Given the description of an element on the screen output the (x, y) to click on. 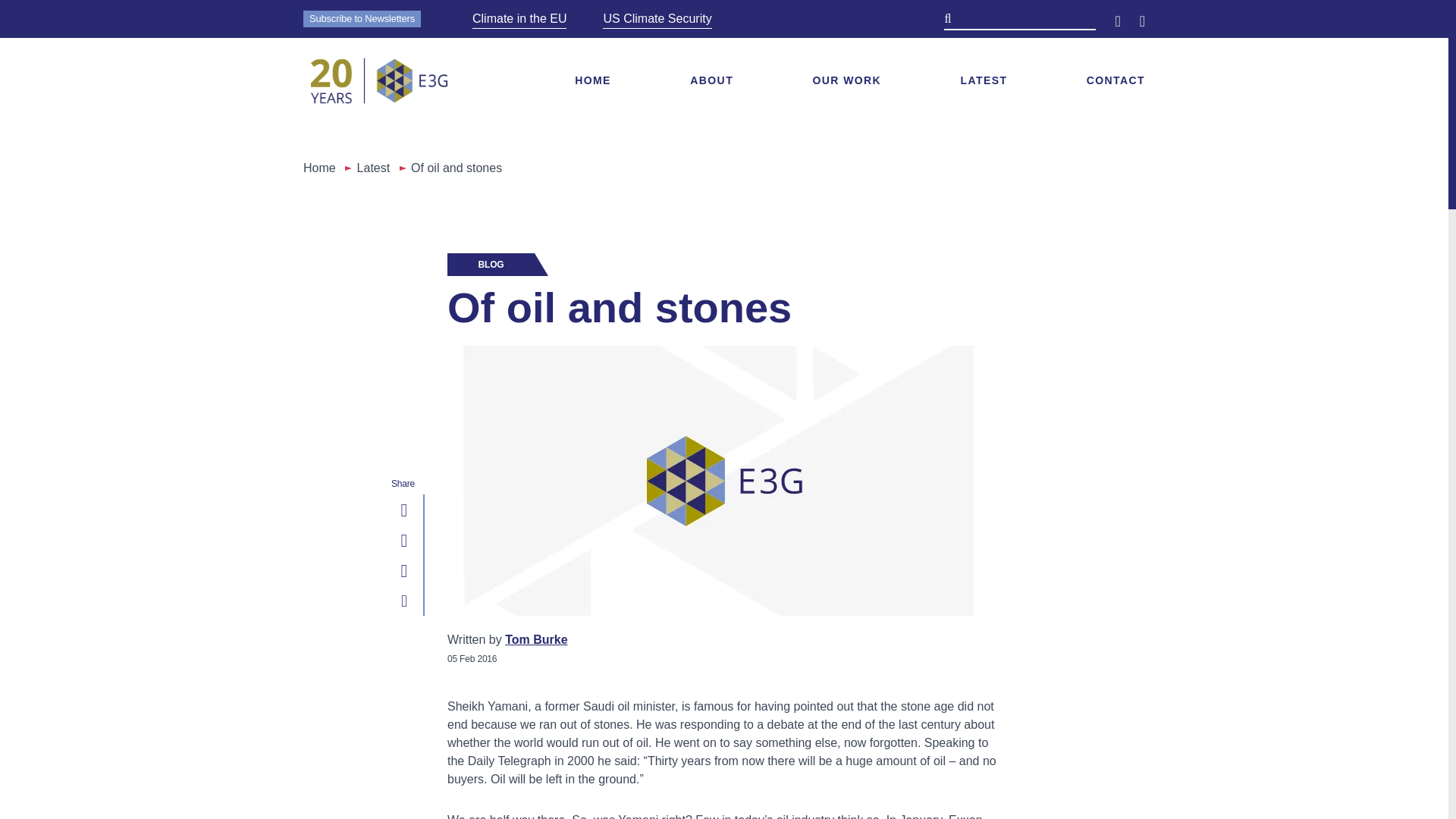
Tweet It (403, 539)
Share at LinkedIn (403, 509)
Latest (373, 167)
Subscribe to Newsletters (361, 18)
ABOUT (711, 81)
HOME (593, 81)
OUR WORK (847, 81)
Home (319, 167)
LATEST (983, 81)
US Climate Security (656, 18)
